Given the description of an element on the screen output the (x, y) to click on. 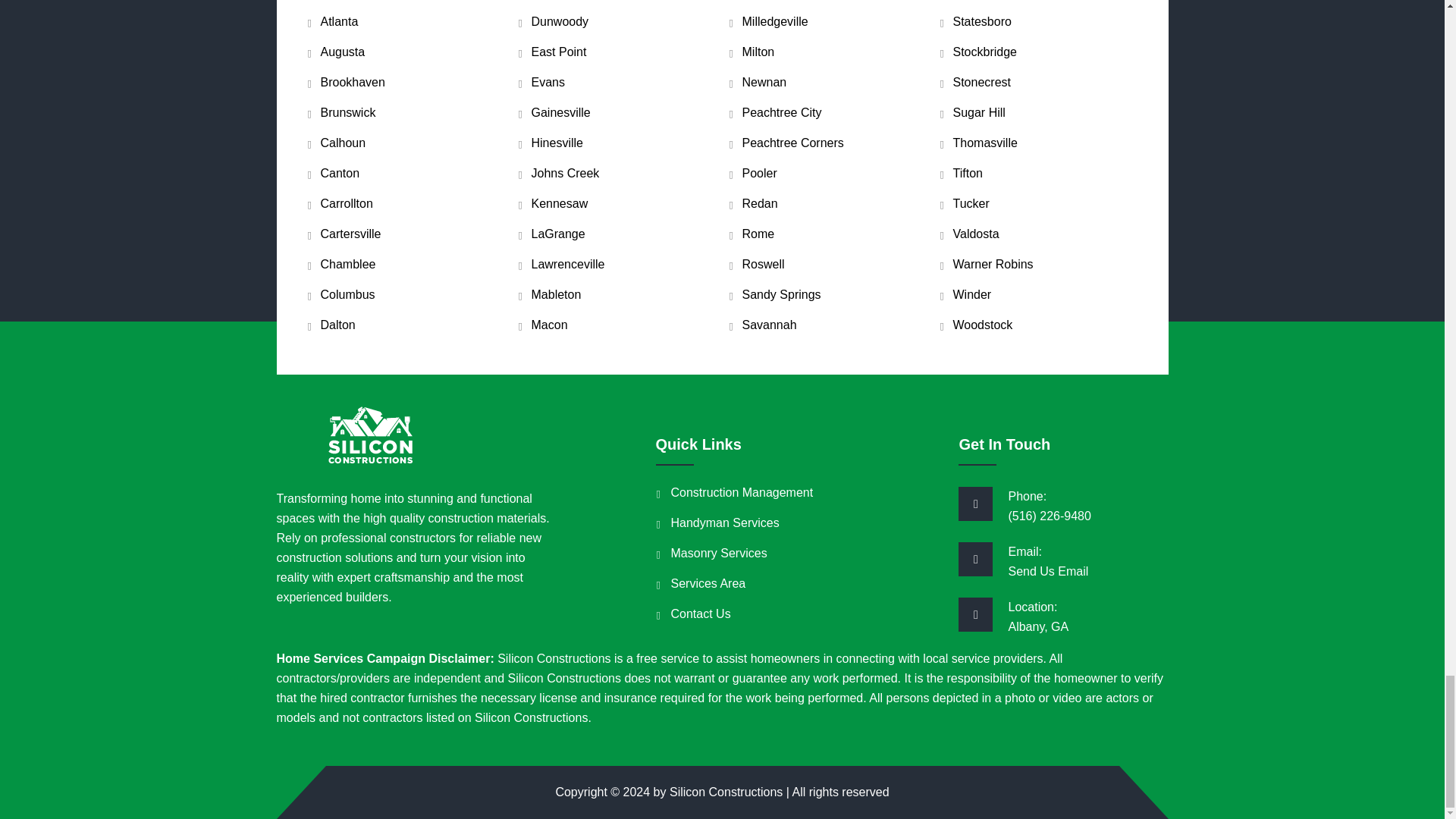
Brookhaven (352, 82)
Brunswick (347, 112)
Atlanta (339, 21)
Augusta (342, 51)
